Given the description of an element on the screen output the (x, y) to click on. 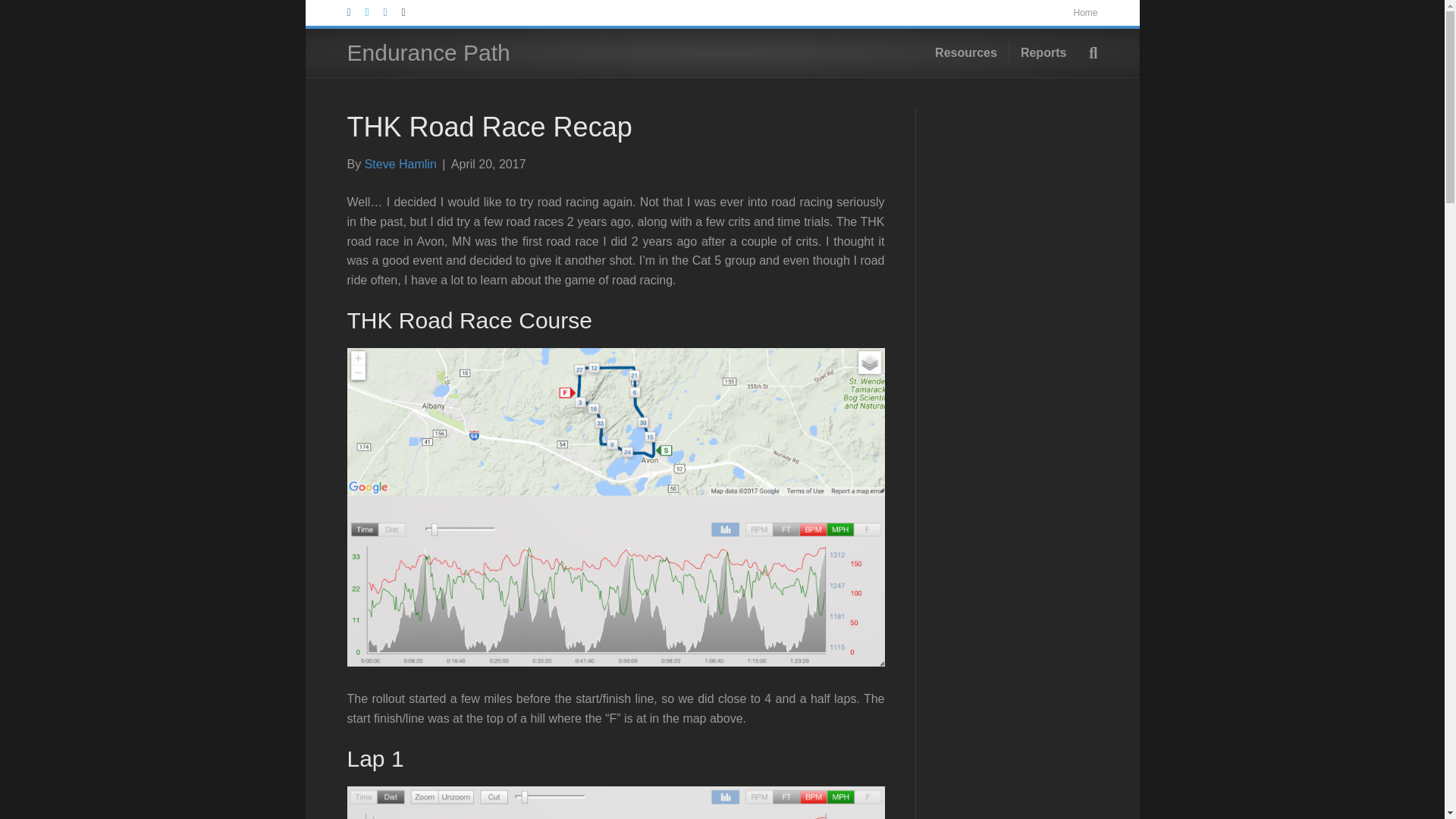
Steve Hamlin (400, 164)
Home (1085, 13)
Email (410, 11)
Instagram (392, 11)
Twitter (374, 11)
Endurance Path (466, 53)
Reports (1043, 52)
Facebook (356, 11)
Resources (966, 52)
